Given the description of an element on the screen output the (x, y) to click on. 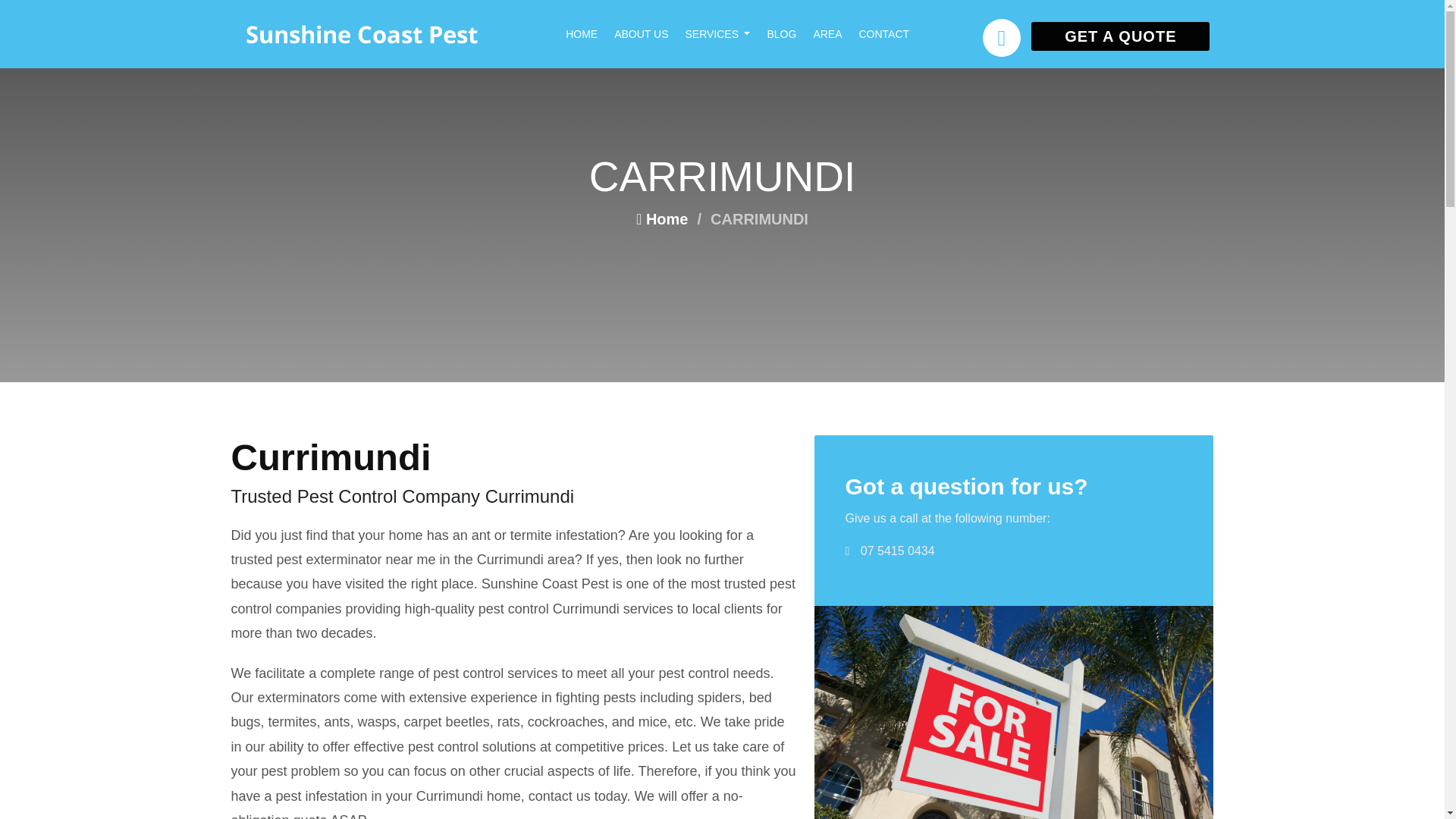
07 5415 0434 (897, 551)
CONTACT (892, 33)
ABOUT US (649, 33)
ABOUT US (649, 33)
BLOG (789, 33)
SERVICES (725, 33)
AREA (835, 33)
GET A QUOTE (1119, 36)
HOME (590, 33)
HOME (590, 33)
